Given the description of an element on the screen output the (x, y) to click on. 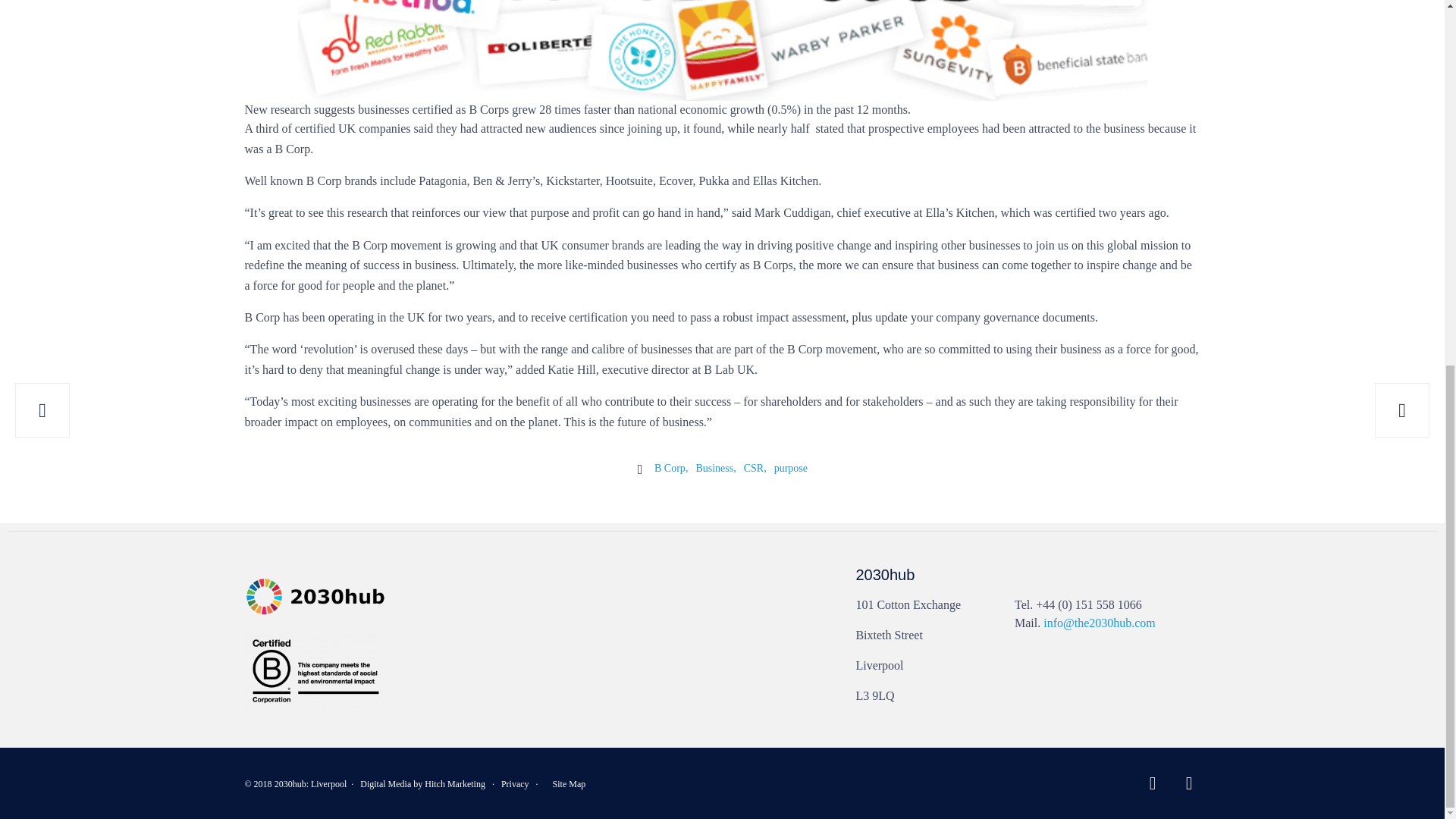
2030hub: Liverpool (311, 784)
CSR (755, 468)
Site Map (569, 784)
Business (715, 468)
Hitch Marketing (454, 784)
2018-Corp-wTag-Black-S (315, 670)
2030-generic-400 (315, 596)
Privacy (514, 784)
purpose (791, 468)
B Corp (670, 468)
